Given the description of an element on the screen output the (x, y) to click on. 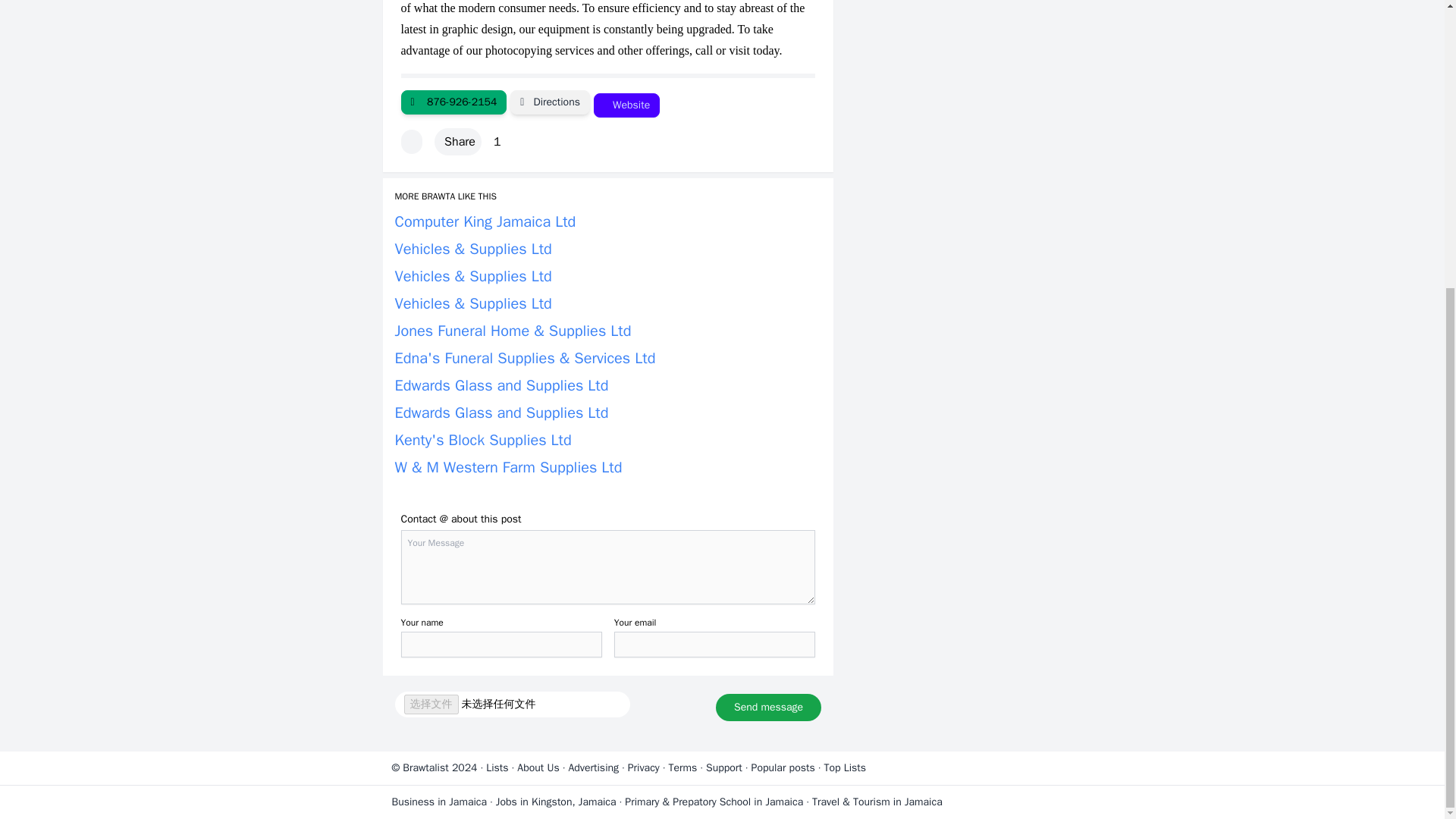
 Directions (550, 102)
Lists (497, 767)
Like (411, 141)
Popular posts (783, 767)
Privacy (643, 767)
Click to Call (453, 102)
 Website (626, 105)
  876-926-2154 (453, 102)
Send message (768, 707)
Terms (682, 767)
Edwards Glass and Supplies Ltd (501, 412)
Advertising (592, 767)
Edwards Glass and Supplies Ltd (501, 384)
Computer King Jamaica Ltd (484, 221)
